Given the description of an element on the screen output the (x, y) to click on. 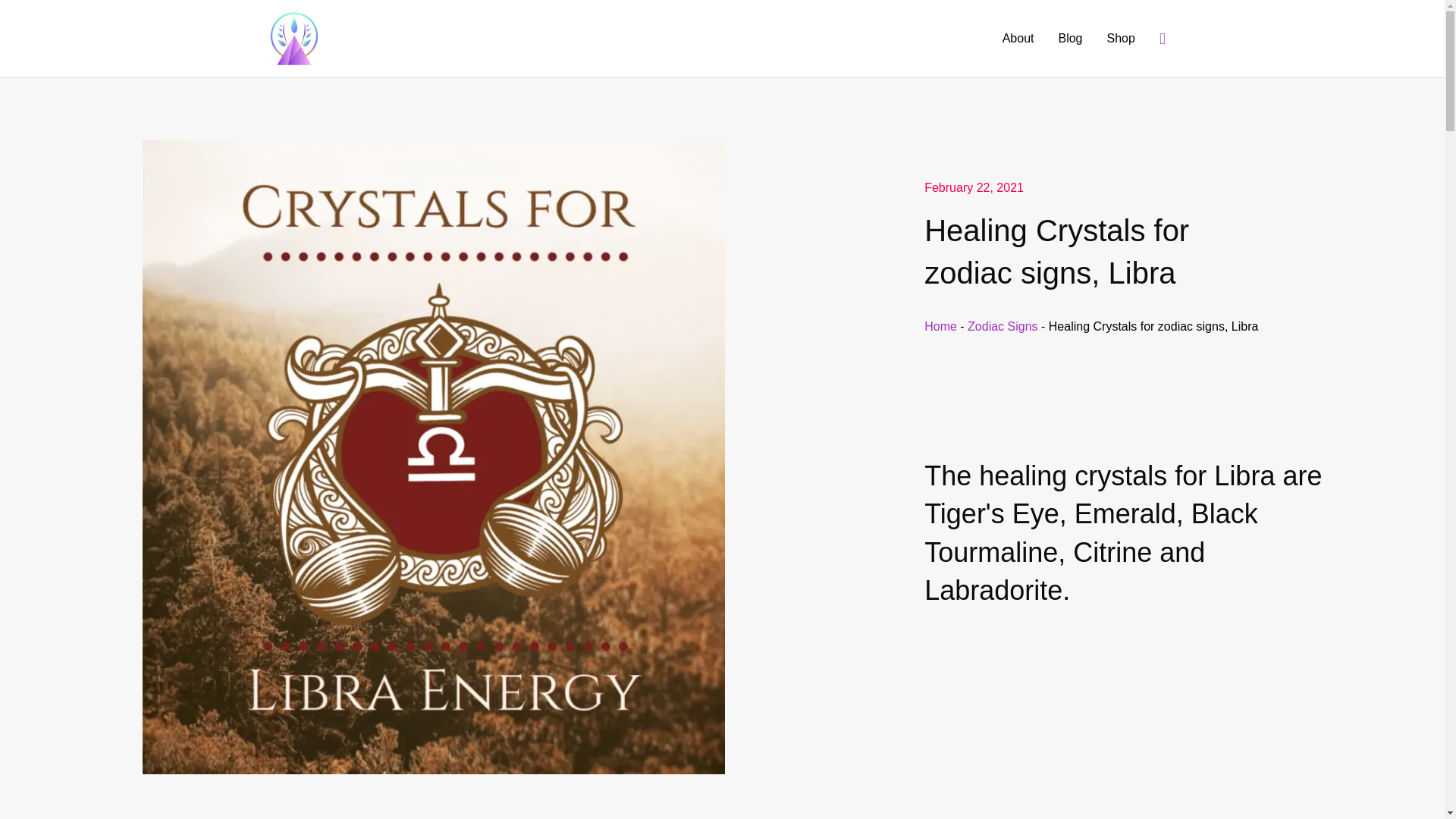
Home (940, 326)
Shop (1120, 38)
Zodiac Signs (1003, 326)
About (1018, 38)
Blog (1069, 38)
